Given the description of an element on the screen output the (x, y) to click on. 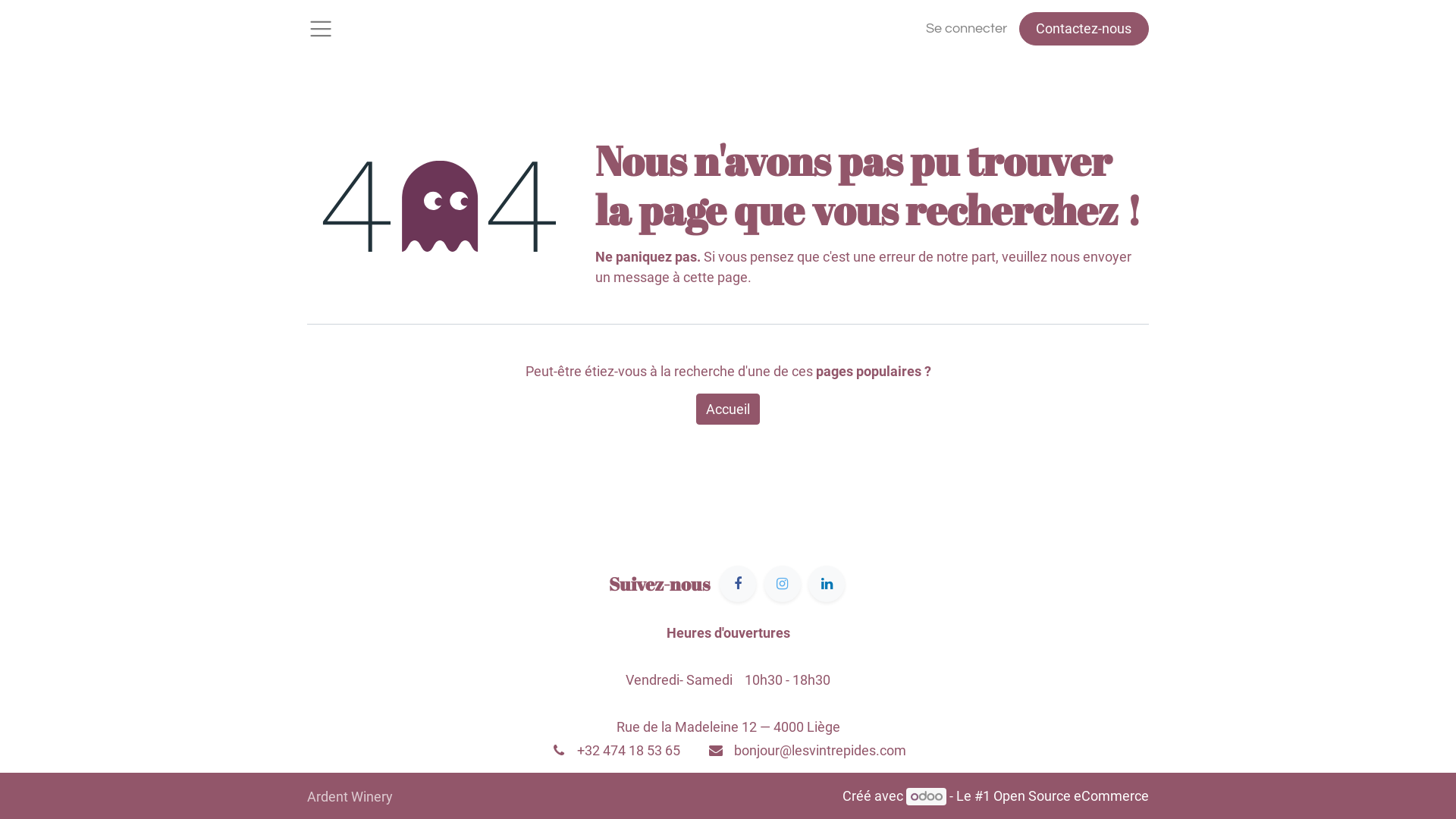
+32 474 18 53 65 Element type: text (627, 750)
Se connecter Element type: text (966, 28)
Contactez-nous Element type: text (1083, 28)
Accueil Element type: text (727, 408)
cette page Element type: text (715, 277)
bonjour@lesvintrepides.com Element type: text (820, 750)
Open Source eCommerce Element type: text (1070, 795)
